Given the description of an element on the screen output the (x, y) to click on. 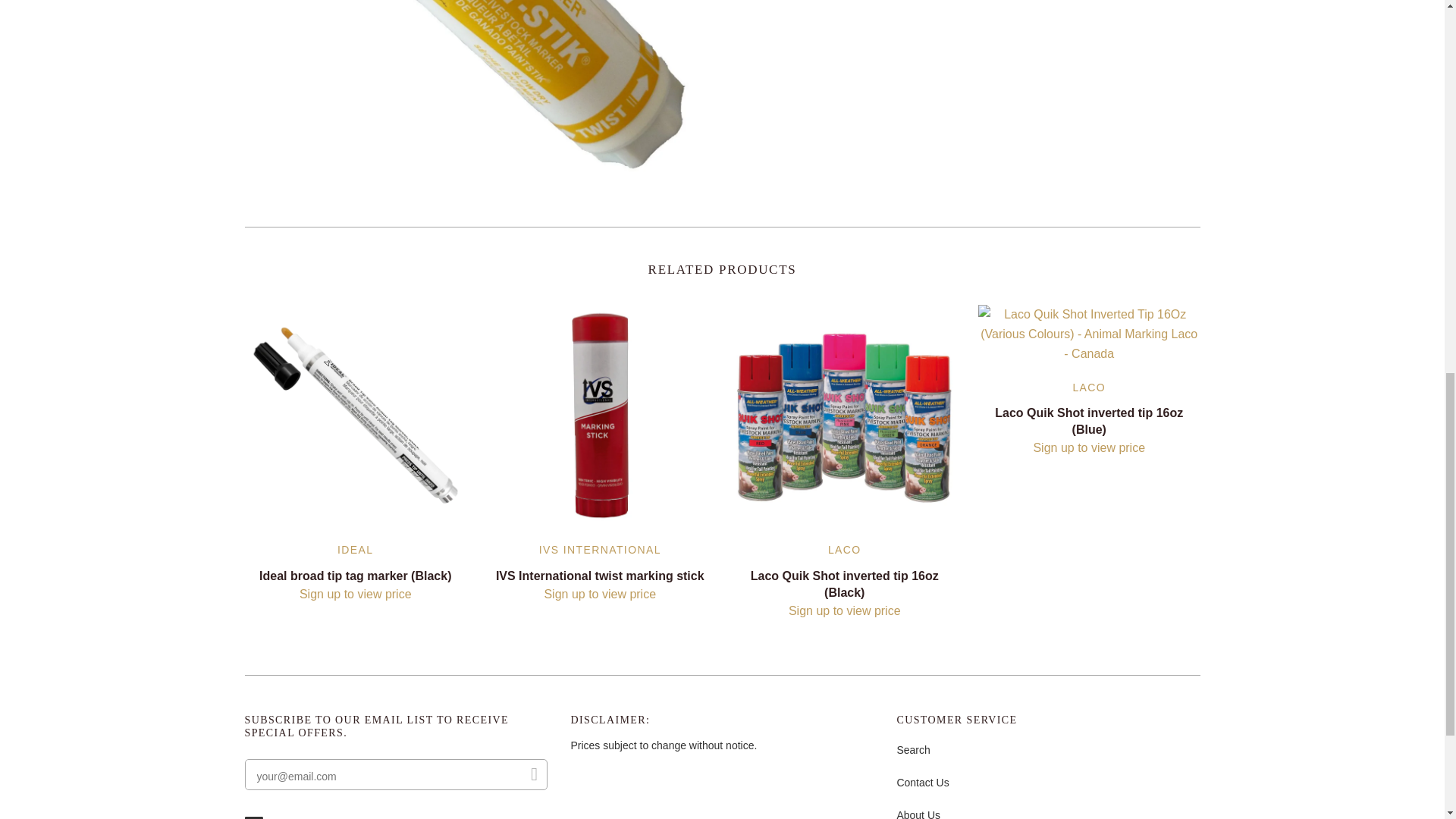
Laco (844, 549)
IVS International (599, 549)
Mail (282, 817)
Ideal (354, 549)
Laco (1088, 387)
Facebook (253, 817)
